Given the description of an element on the screen output the (x, y) to click on. 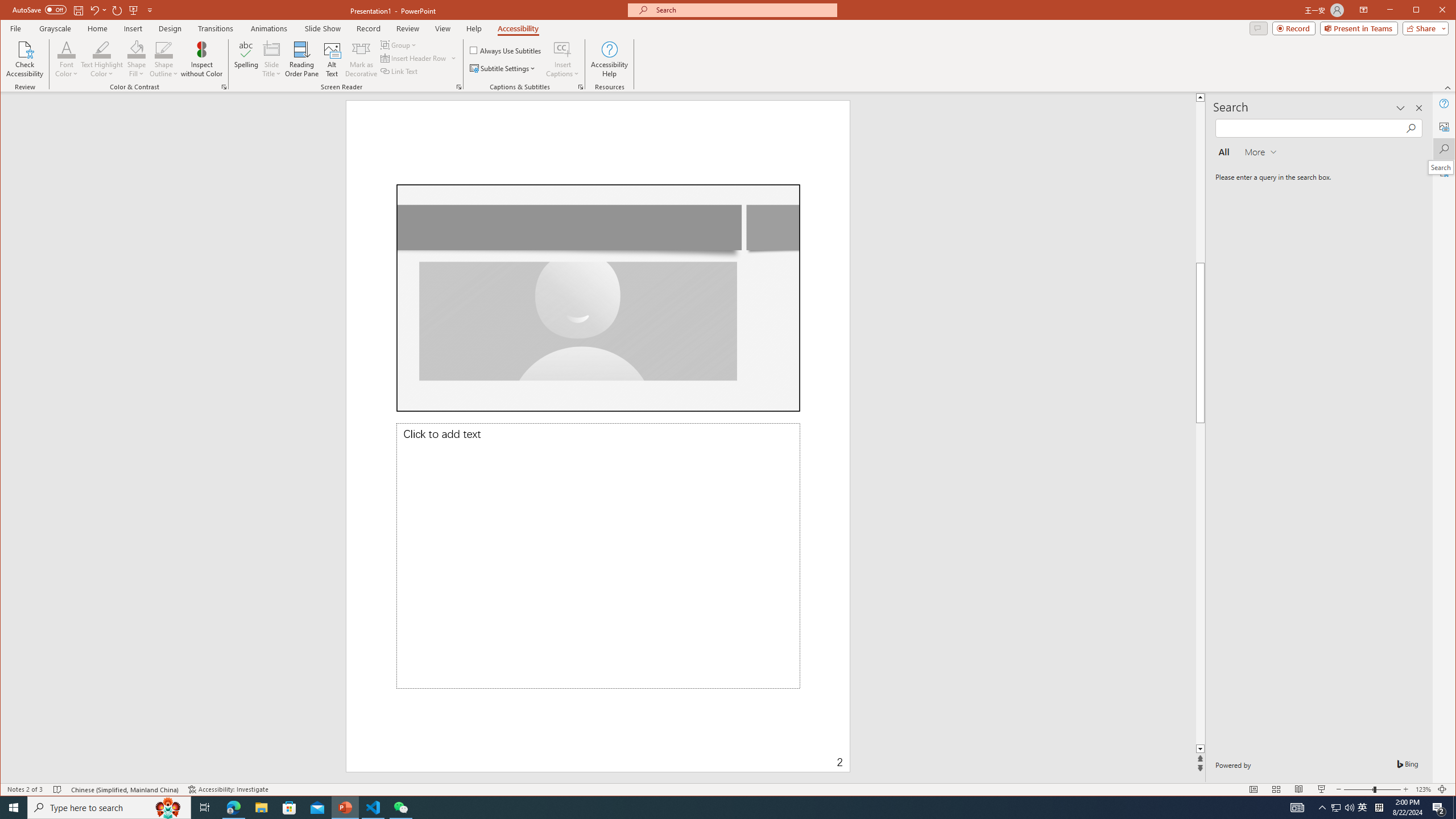
Maximize (1432, 11)
Grayscale (55, 28)
Alt Text (331, 59)
